Given the description of an element on the screen output the (x, y) to click on. 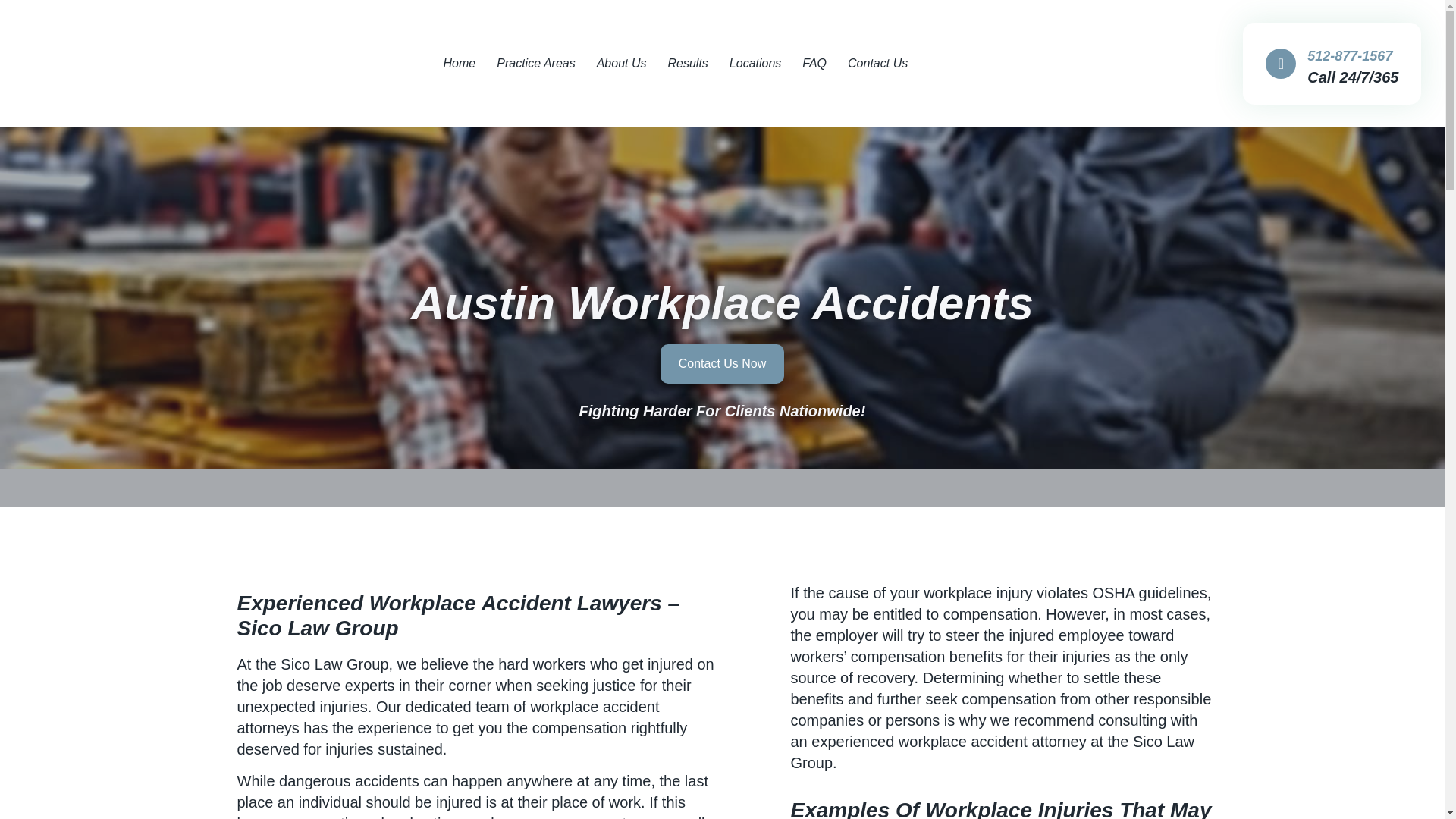
Practice Areas (535, 63)
FAQ (814, 63)
About Us (622, 63)
Results (686, 63)
Contact Us (877, 63)
Home (459, 63)
Locations (755, 63)
